Given the description of an element on the screen output the (x, y) to click on. 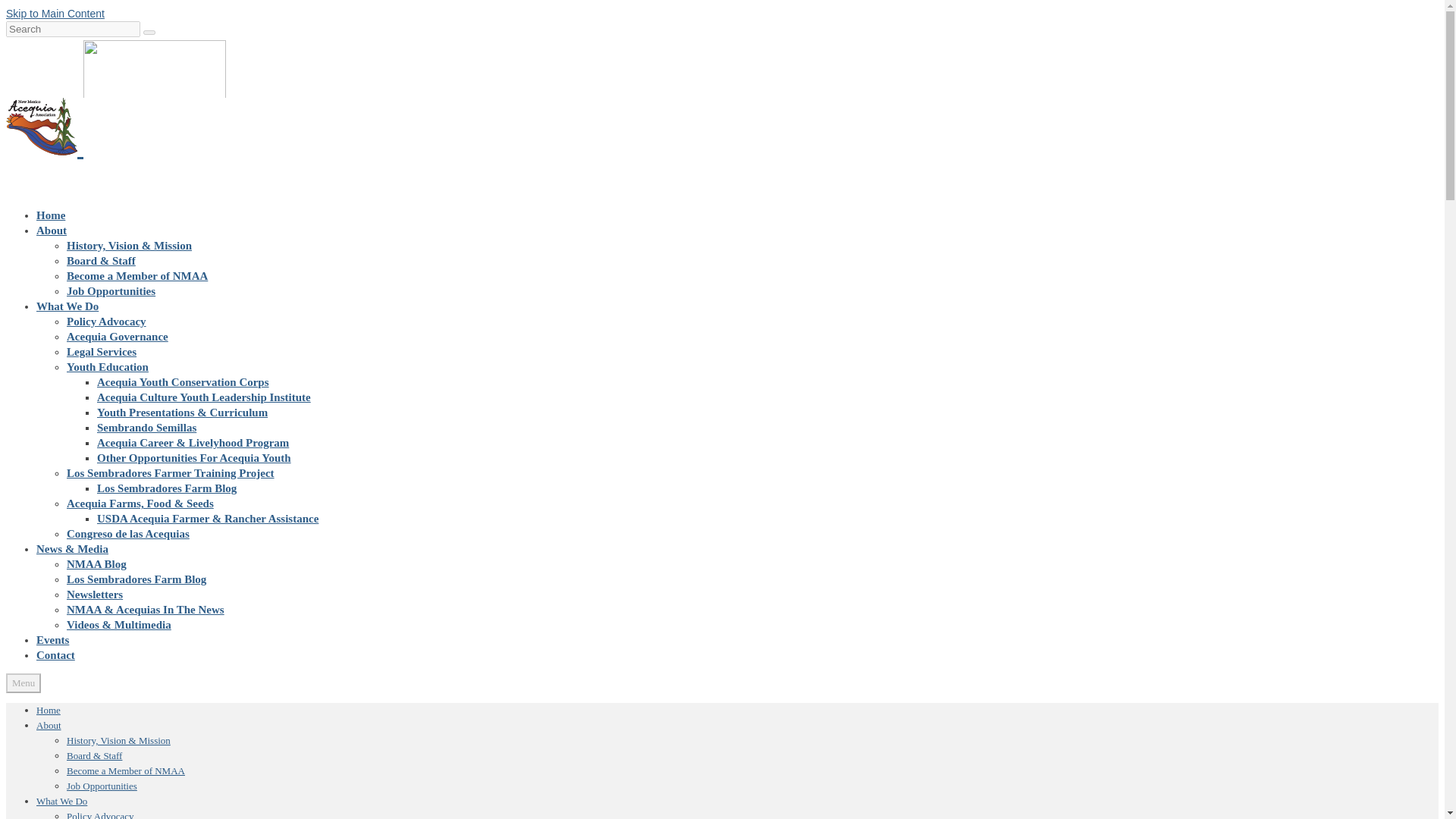
Policy Advocacy (106, 321)
Congreso de las Acequias (127, 533)
Los Sembradores Farmer Training Project (170, 472)
Become a Member of NMAA (125, 770)
About (48, 725)
Home (50, 215)
Contact (55, 654)
Legal Services (101, 351)
Become a Member of NMAA (137, 275)
NMAA Blog (96, 563)
